Given the description of an element on the screen output the (x, y) to click on. 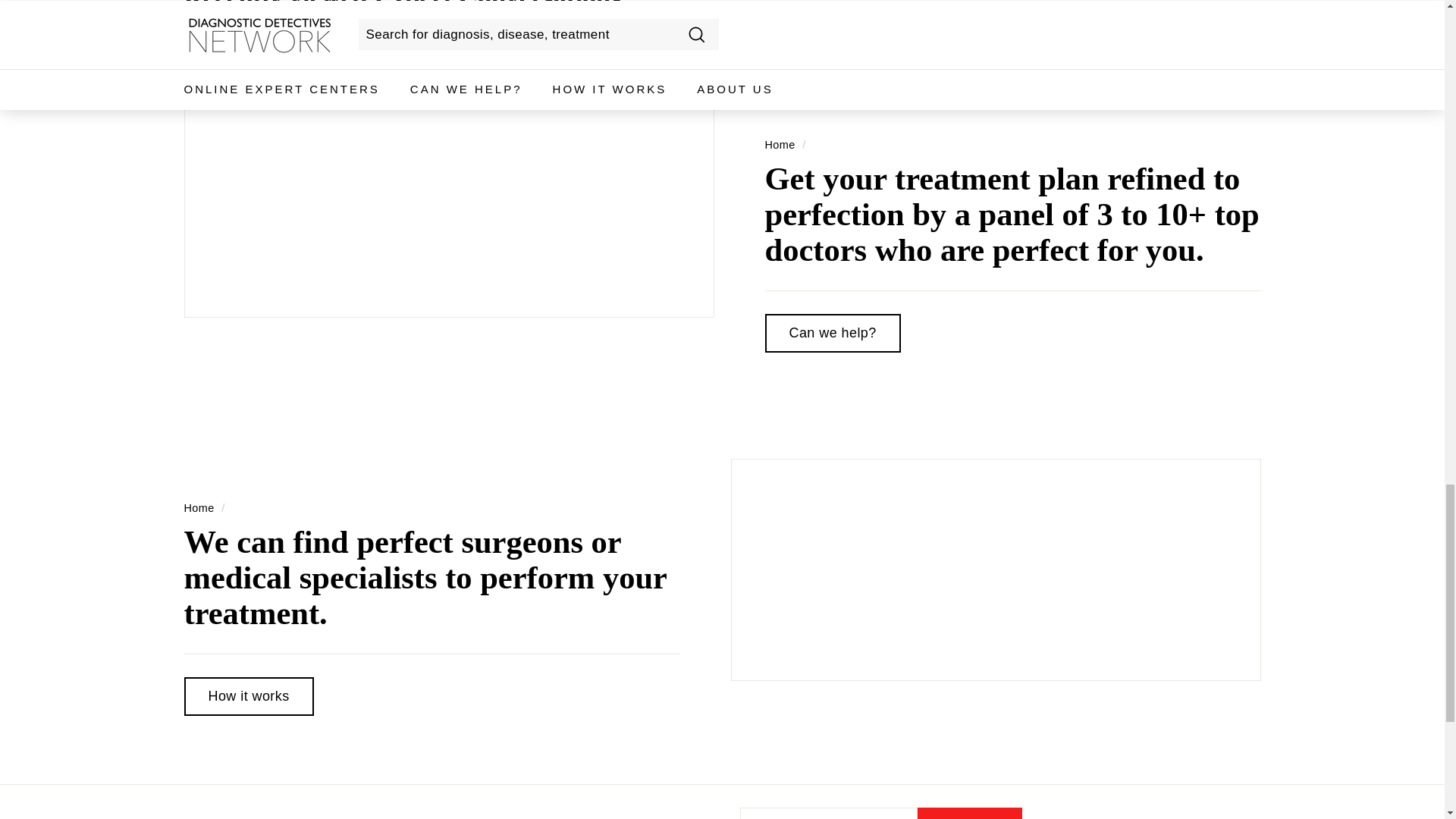
Back to the frontpage (198, 508)
Back to the frontpage (779, 144)
